Given the description of an element on the screen output the (x, y) to click on. 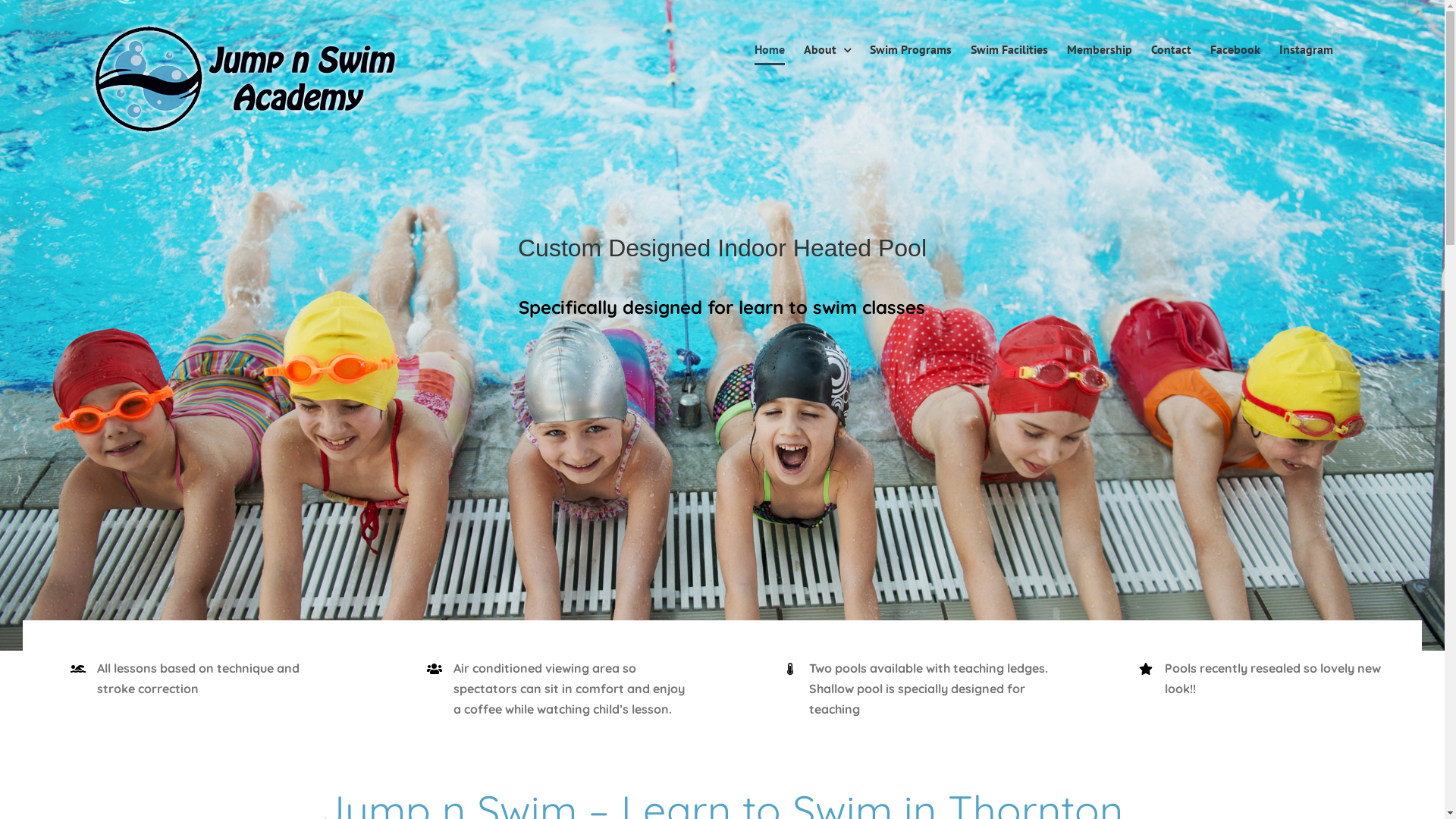
Home Element type: text (769, 48)
Membership Element type: text (1099, 48)
Swim Programs Element type: text (910, 48)
Facebook Element type: text (1235, 48)
Contact Element type: text (1171, 48)
Swim Facilities Element type: text (1009, 48)
About Element type: text (826, 48)
Instagram Element type: text (1306, 48)
